Given the description of an element on the screen output the (x, y) to click on. 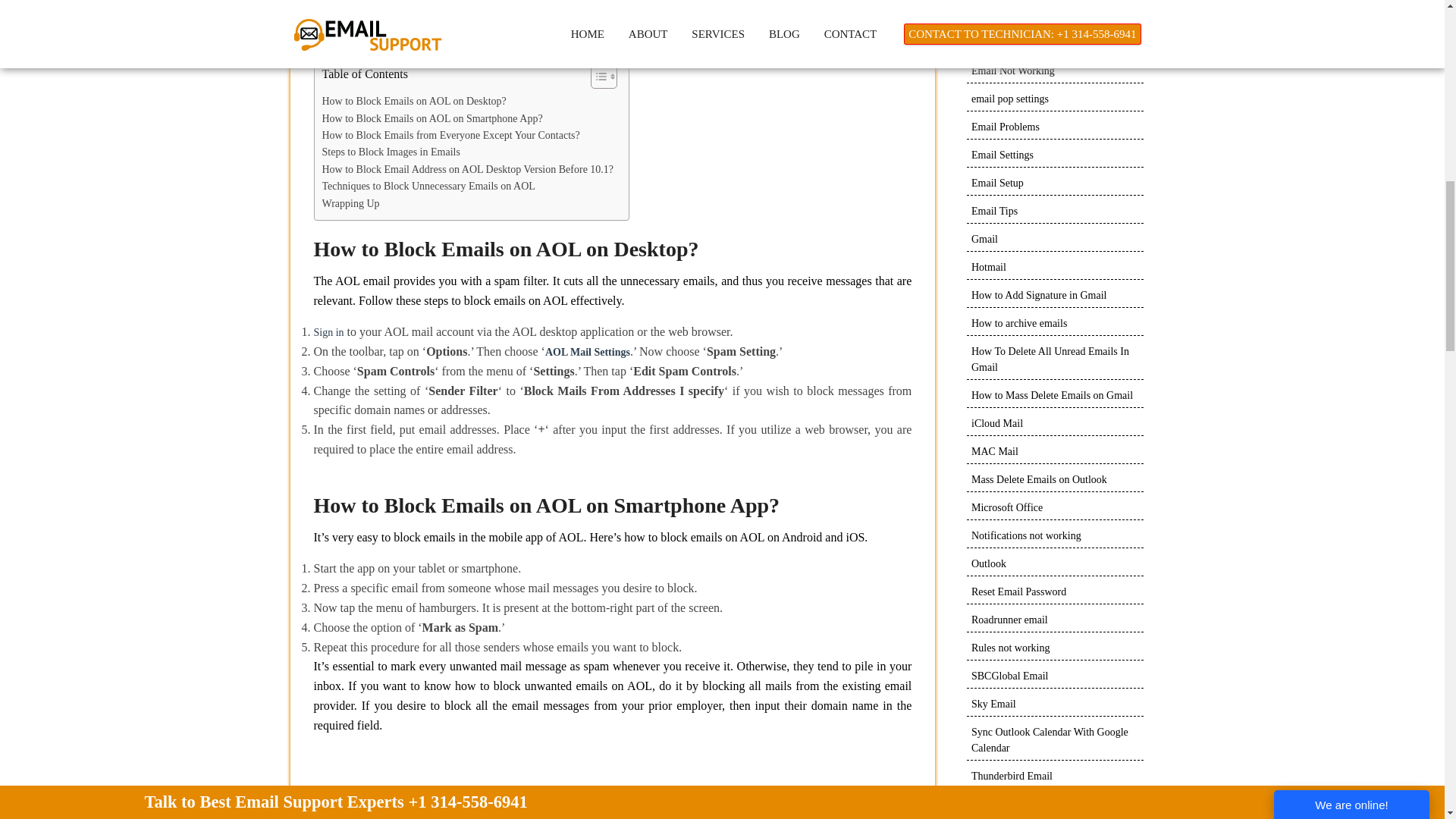
How to Block Emails on AOL on Smartphone App? (431, 118)
How to Block Emails on AOL on Desktop? (413, 101)
How to Block Emails from Everyone Except Your Contacts? (450, 135)
How to Block Emails from Everyone Except Your Contacts? (450, 135)
How to Block Emails on AOL on Desktop? (413, 101)
Wrapping Up (349, 203)
Steps to Block Images in Emails (390, 152)
Techniques to Block Unnecessary Emails on AOL (427, 186)
How to Block Emails on AOL on Smartphone App? (431, 118)
Steps to Block Images in Emails (390, 152)
